Given the description of an element on the screen output the (x, y) to click on. 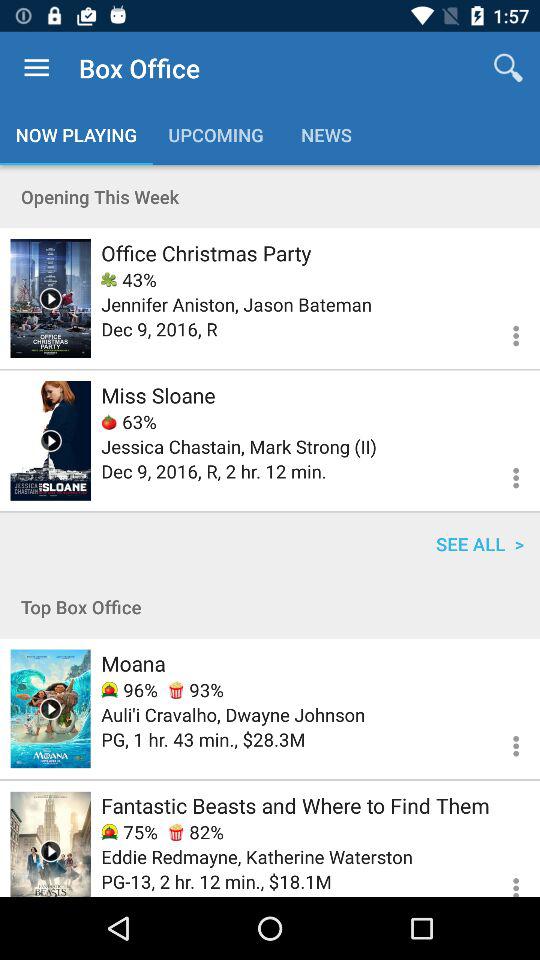
more options (503, 475)
